Given the description of an element on the screen output the (x, y) to click on. 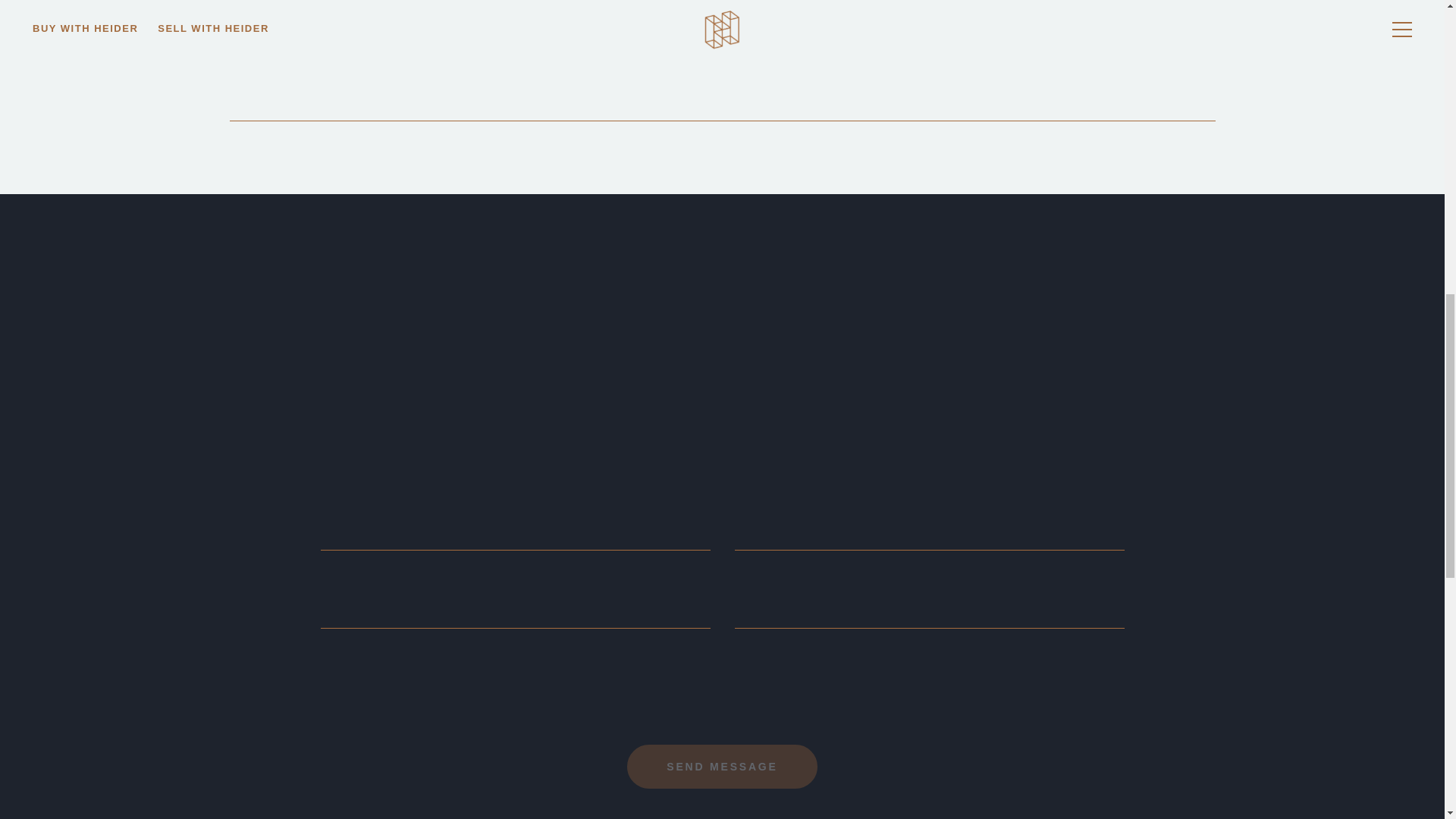
SUBMIT (721, 766)
